Given the description of an element on the screen output the (x, y) to click on. 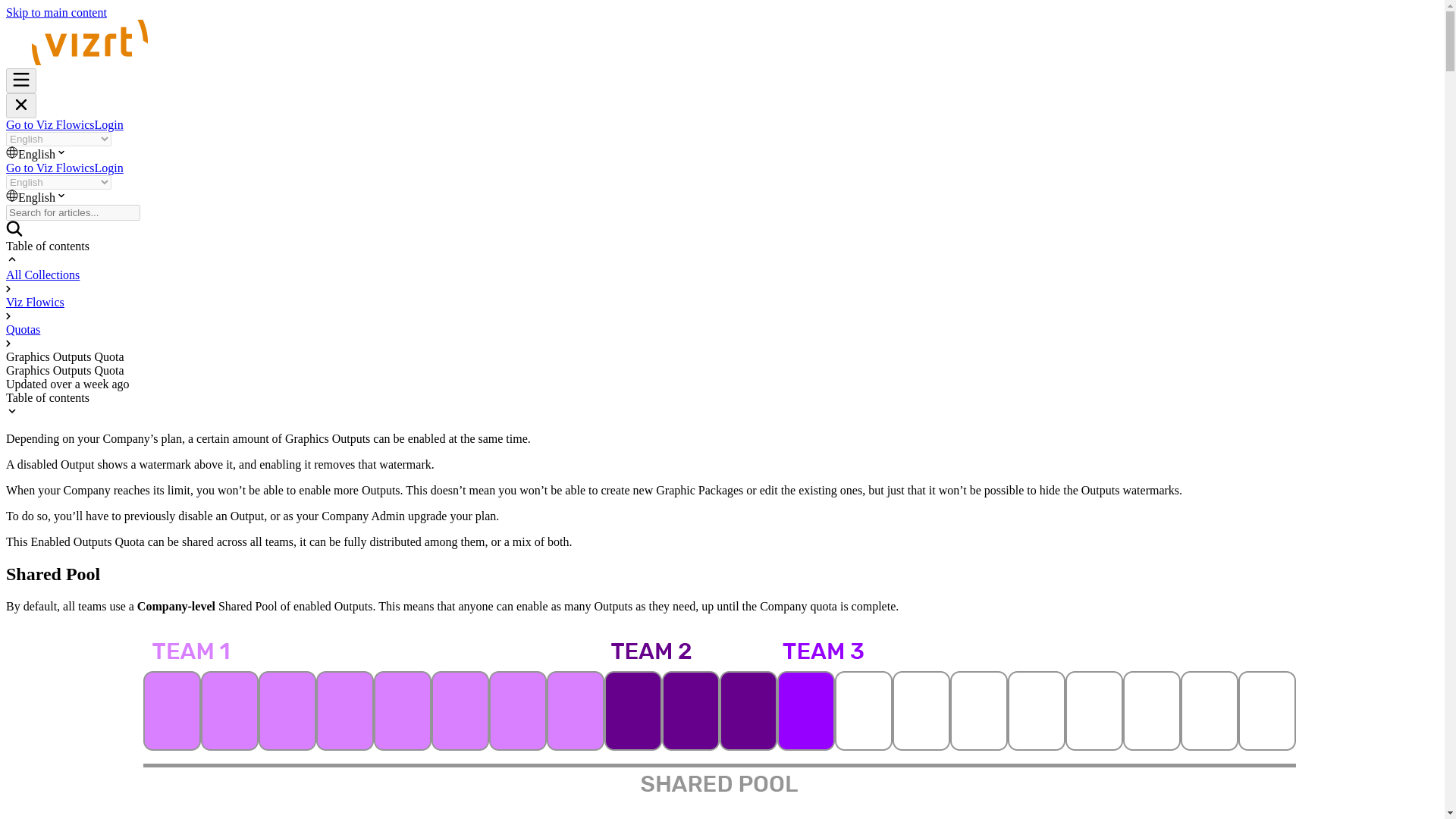
Skip to main content (55, 11)
Go to Viz Flowics (49, 167)
Login (108, 167)
Go to Viz Flowics (49, 124)
Viz Flowics (34, 301)
All Collections (42, 274)
Quotas (22, 328)
Login (108, 124)
